Given the description of an element on the screen output the (x, y) to click on. 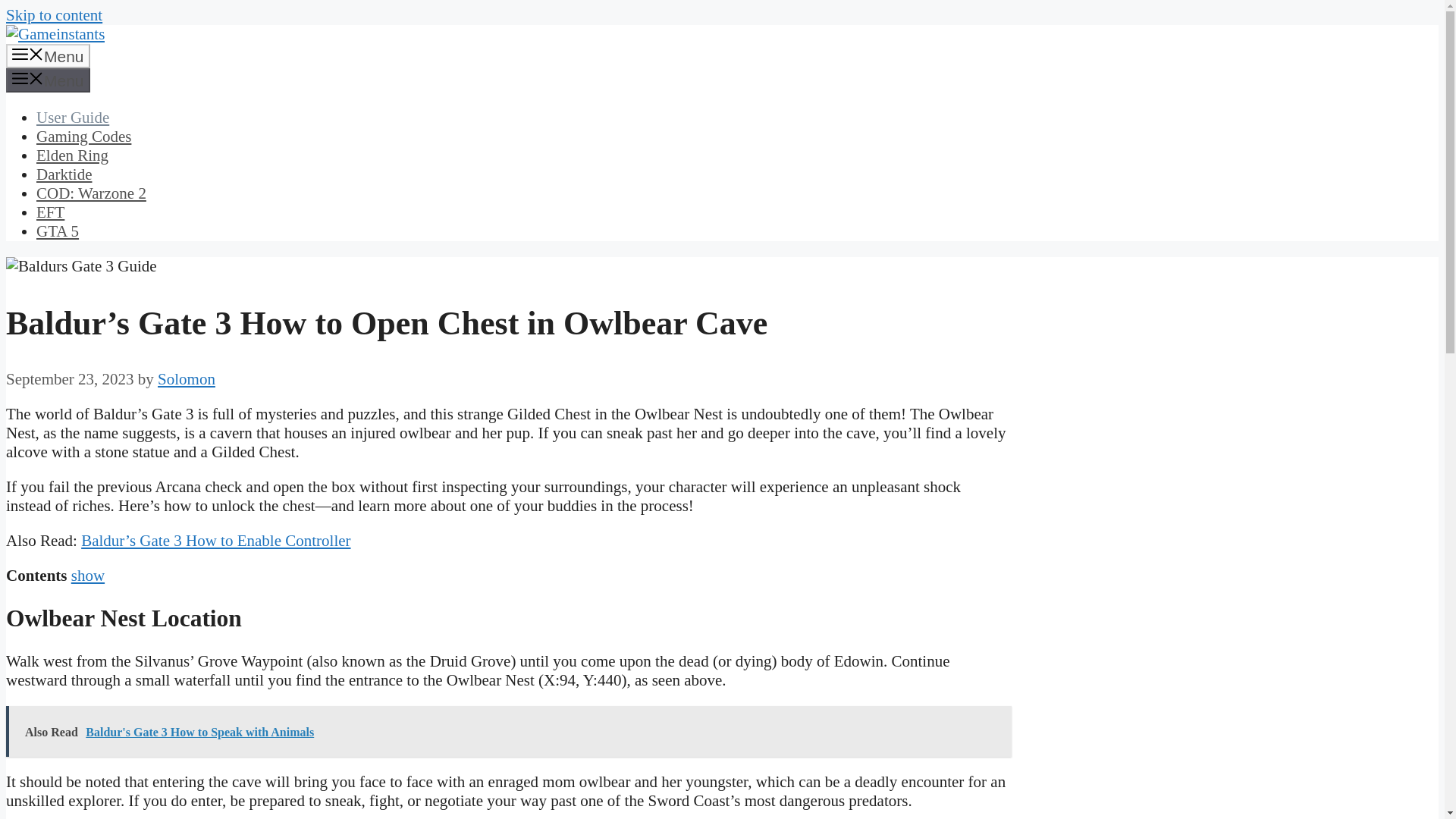
Skip to content (53, 14)
Also Read  Baldur's Gate 3 How to Speak with Animals (508, 730)
User Guide (72, 117)
Solomon (186, 379)
Skip to content (53, 14)
GTA 5 (57, 230)
Menu (47, 79)
Menu (47, 55)
Darktide (63, 174)
Gaming Codes (83, 136)
View all posts by Solomon (186, 379)
Baldur's Gate 3 How to Open Chest in Owlbear Cave (81, 266)
EFT (50, 212)
show (87, 575)
Elden Ring (71, 155)
